Given the description of an element on the screen output the (x, y) to click on. 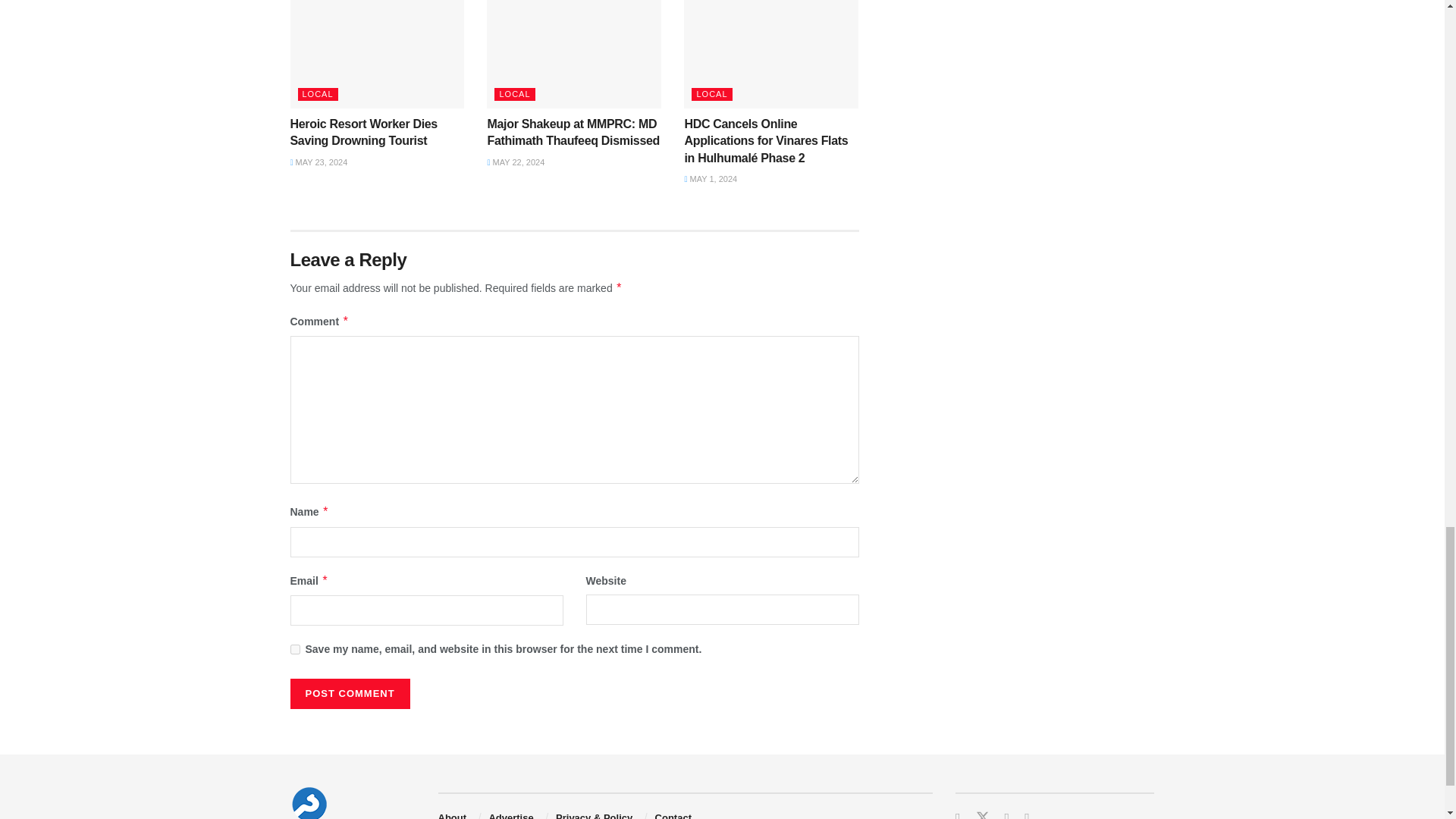
Post Comment (349, 693)
yes (294, 649)
